Given the description of an element on the screen output the (x, y) to click on. 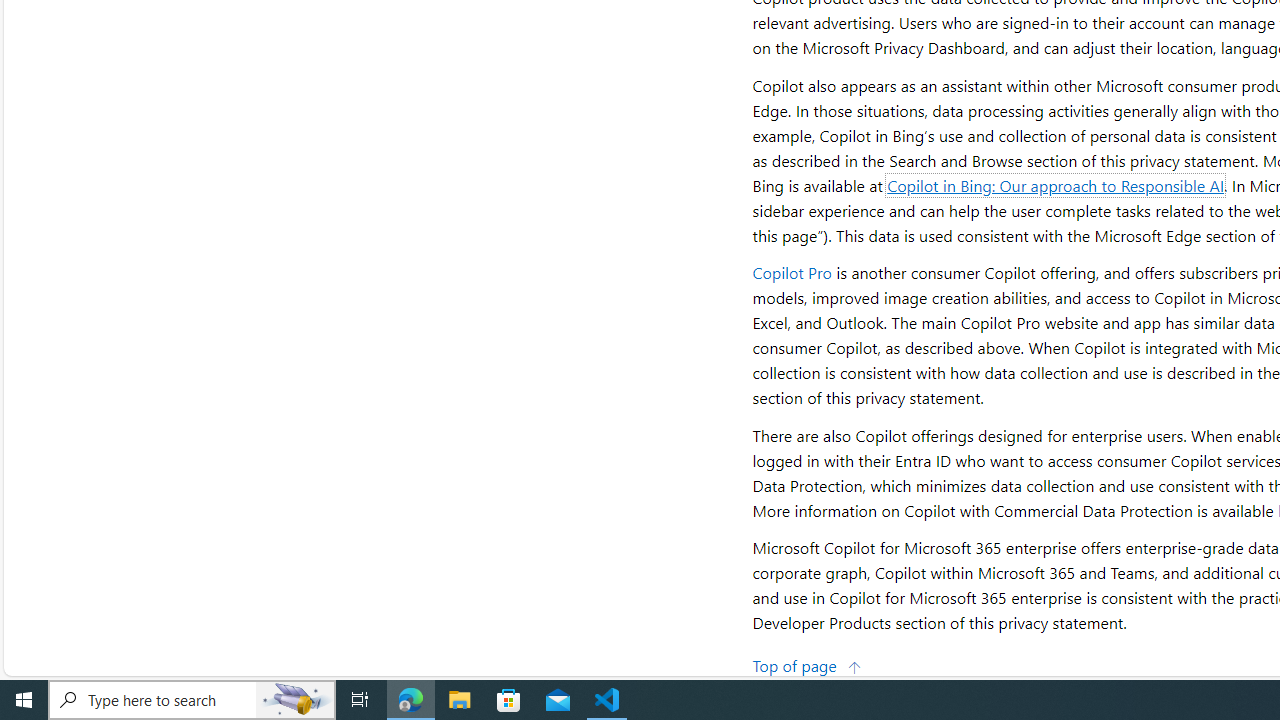
Copilot in Bing: Our approach to Responsible AI (1055, 184)
Top of page (807, 664)
Copilot Pro (792, 272)
